Given the description of an element on the screen output the (x, y) to click on. 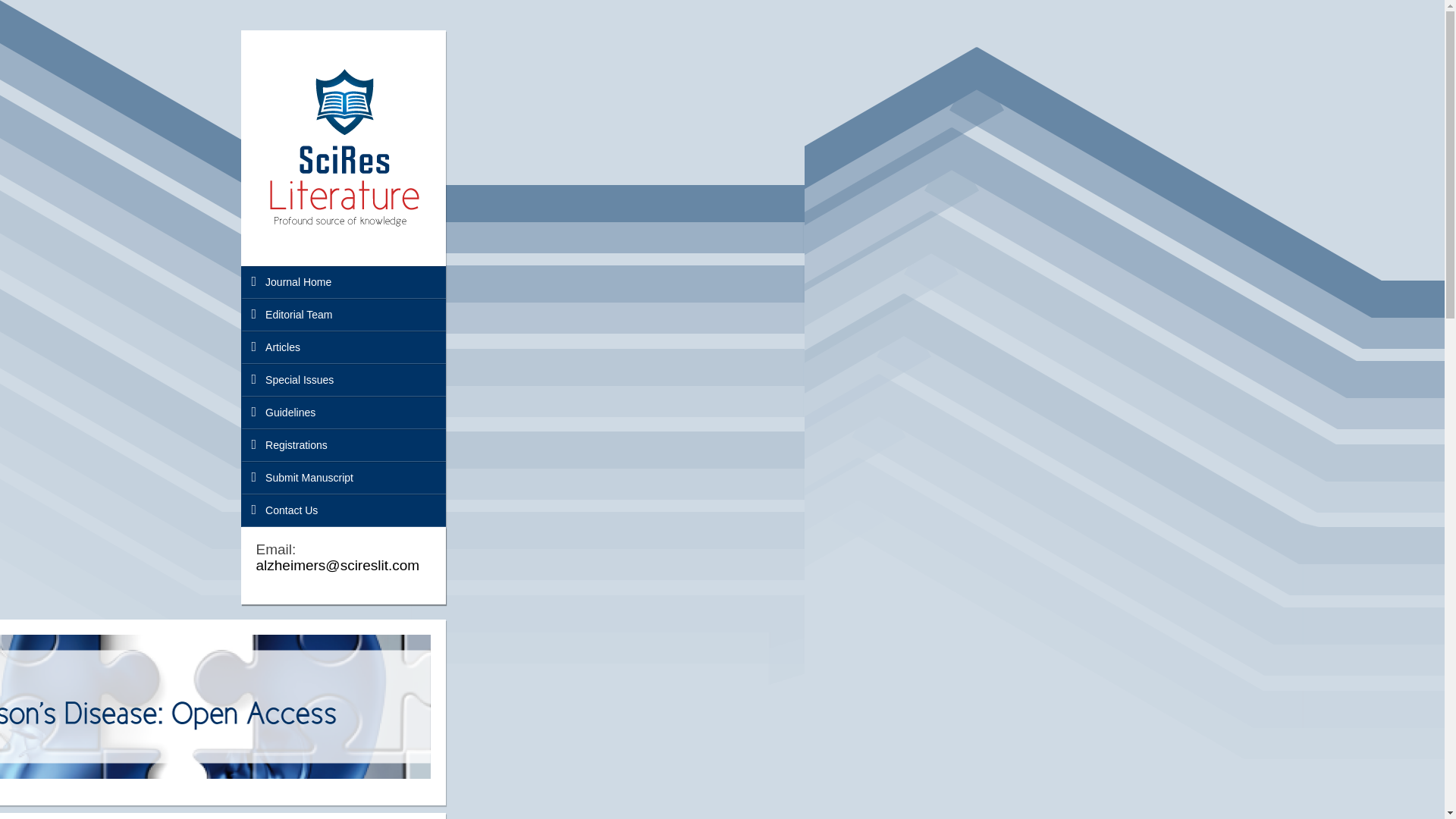
Guidelines (343, 412)
Registrations (343, 445)
Editorial Team (343, 314)
Contact Us (343, 510)
Journal Home (343, 282)
Submit Manuscript (343, 477)
Articles (343, 347)
Special Issues (343, 379)
